Given the description of an element on the screen output the (x, y) to click on. 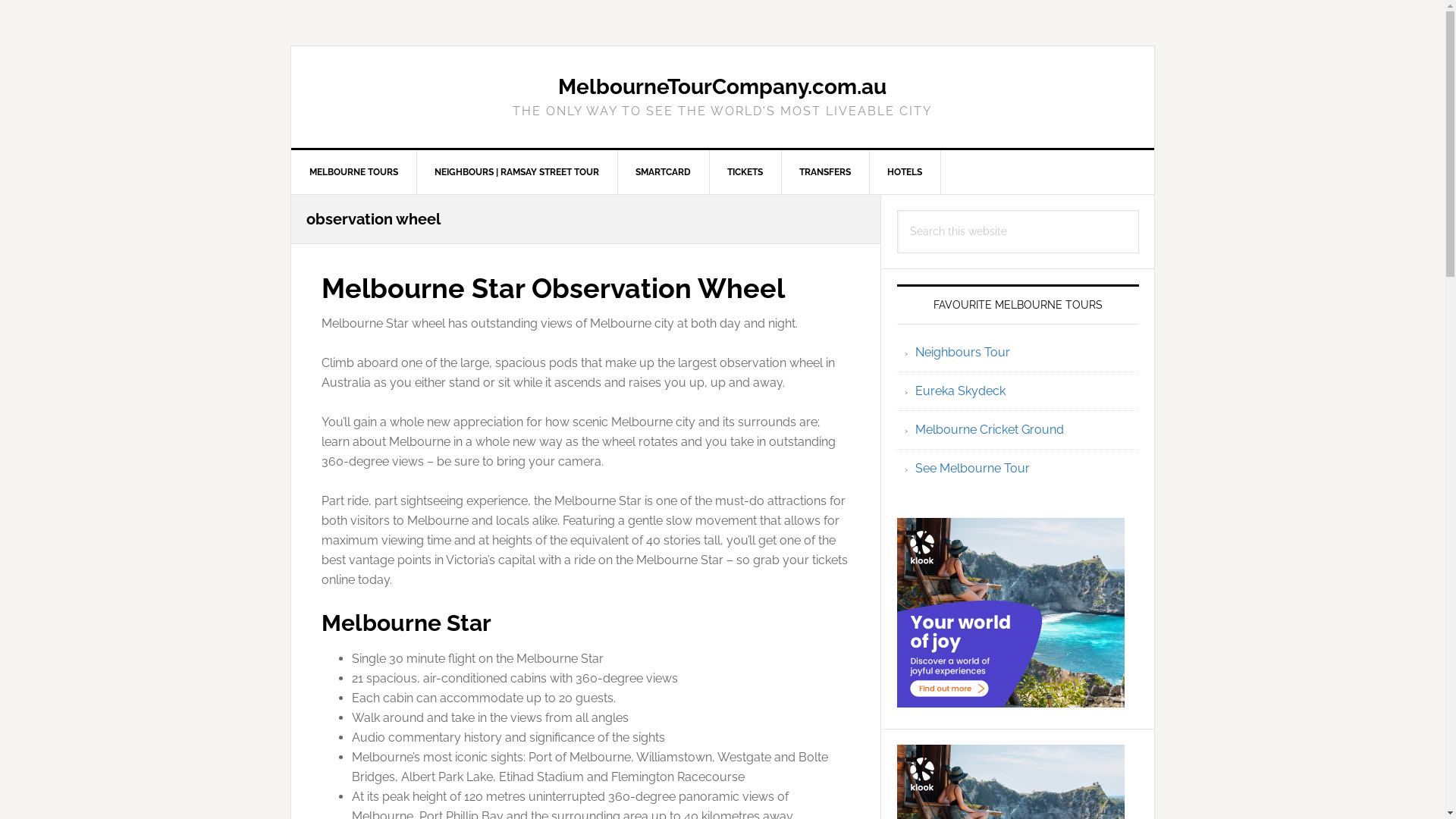
TICKETS Element type: text (744, 172)
See Melbourne Tour Element type: text (971, 468)
HOTELS Element type: text (905, 172)
SMARTCARD Element type: text (663, 172)
TRANSFERS Element type: text (825, 172)
Melbourne Star Observation Wheel Element type: text (552, 288)
MELBOURNE TOURS Element type: text (354, 172)
Search Element type: text (1139, 209)
Eureka Skydeck Element type: text (959, 390)
MelbourneTourCompany.com.au Element type: text (722, 86)
NEIGHBOURS | RAMSAY STREET TOUR Element type: text (516, 172)
Neighbours Tour Element type: text (961, 352)
Skip to primary navigation Element type: text (0, 0)
Melbourne Cricket Ground Element type: text (988, 429)
